Given the description of an element on the screen output the (x, y) to click on. 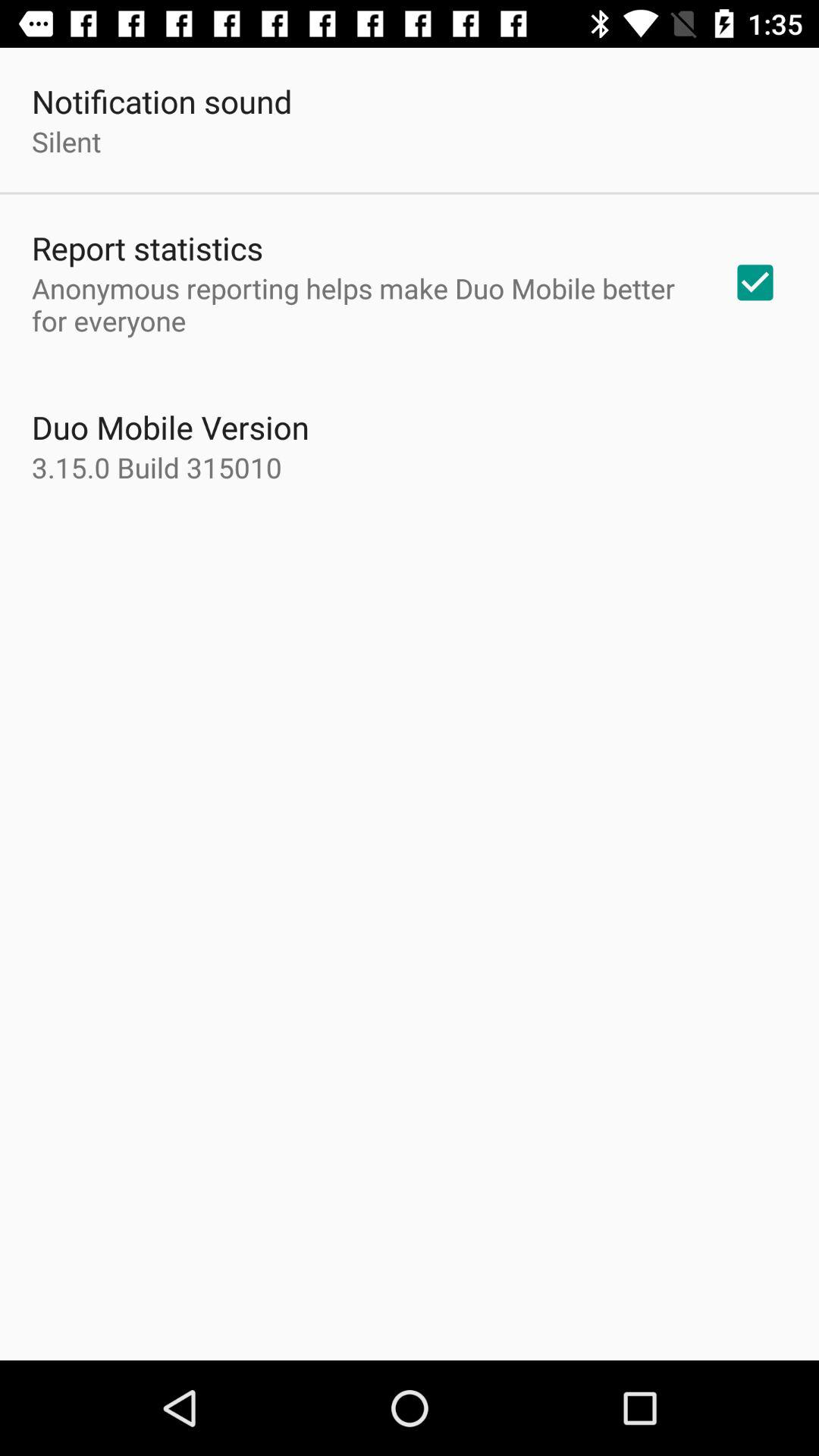
turn on icon above silent icon (161, 100)
